Given the description of an element on the screen output the (x, y) to click on. 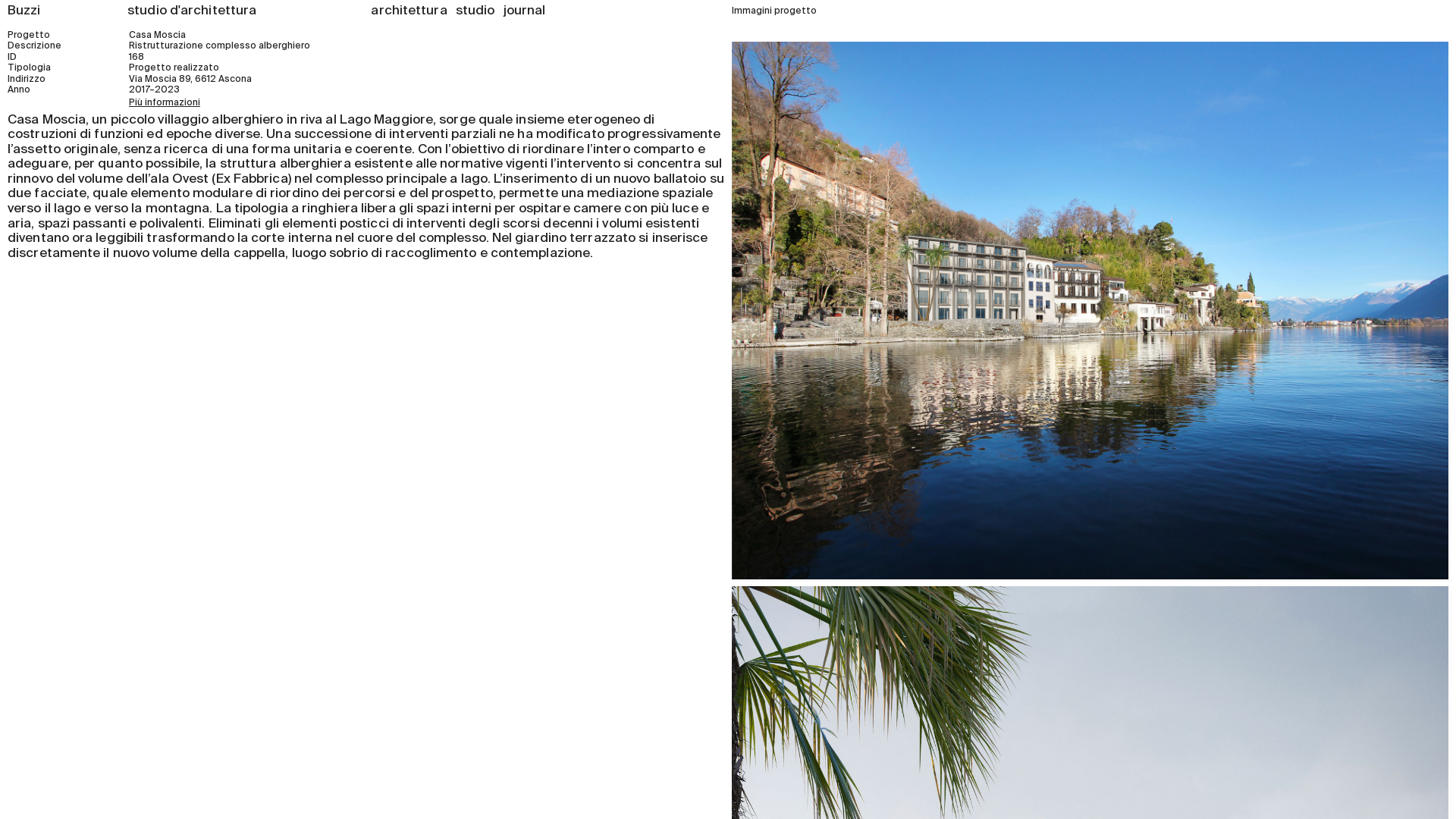
studio d'architettura Element type: text (191, 10)
architettura Element type: text (408, 10)
studio Element type: text (475, 10)
journal Element type: text (524, 10)
Buzzi Element type: text (23, 10)
